Given the description of an element on the screen output the (x, y) to click on. 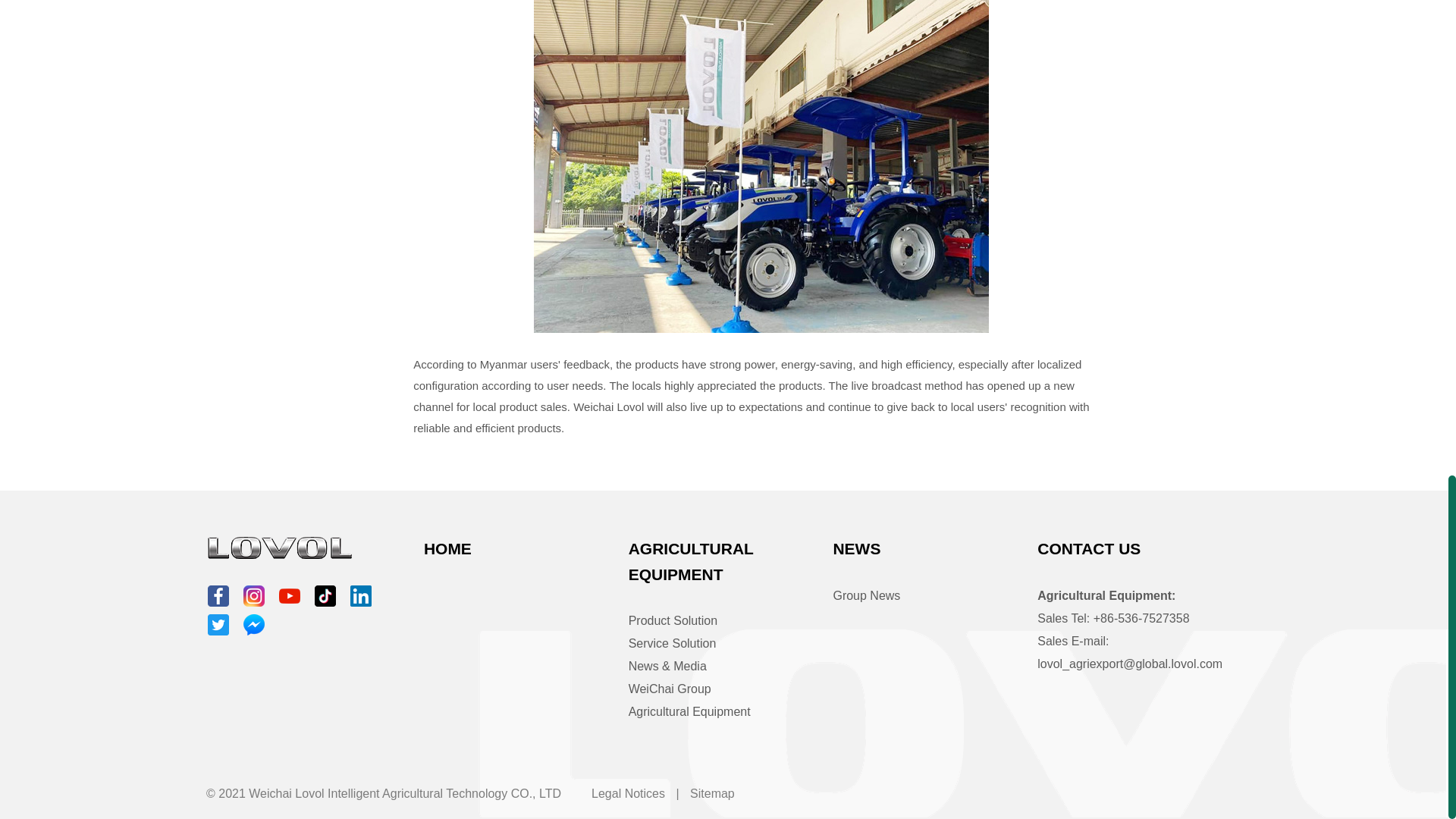
share to TikTok (325, 595)
share to linkin (360, 595)
share to youtube (289, 595)
share to Instagram (253, 595)
share to twitter (218, 624)
share to facebook (218, 595)
share to Messenger (253, 624)
